Given the description of an element on the screen output the (x, y) to click on. 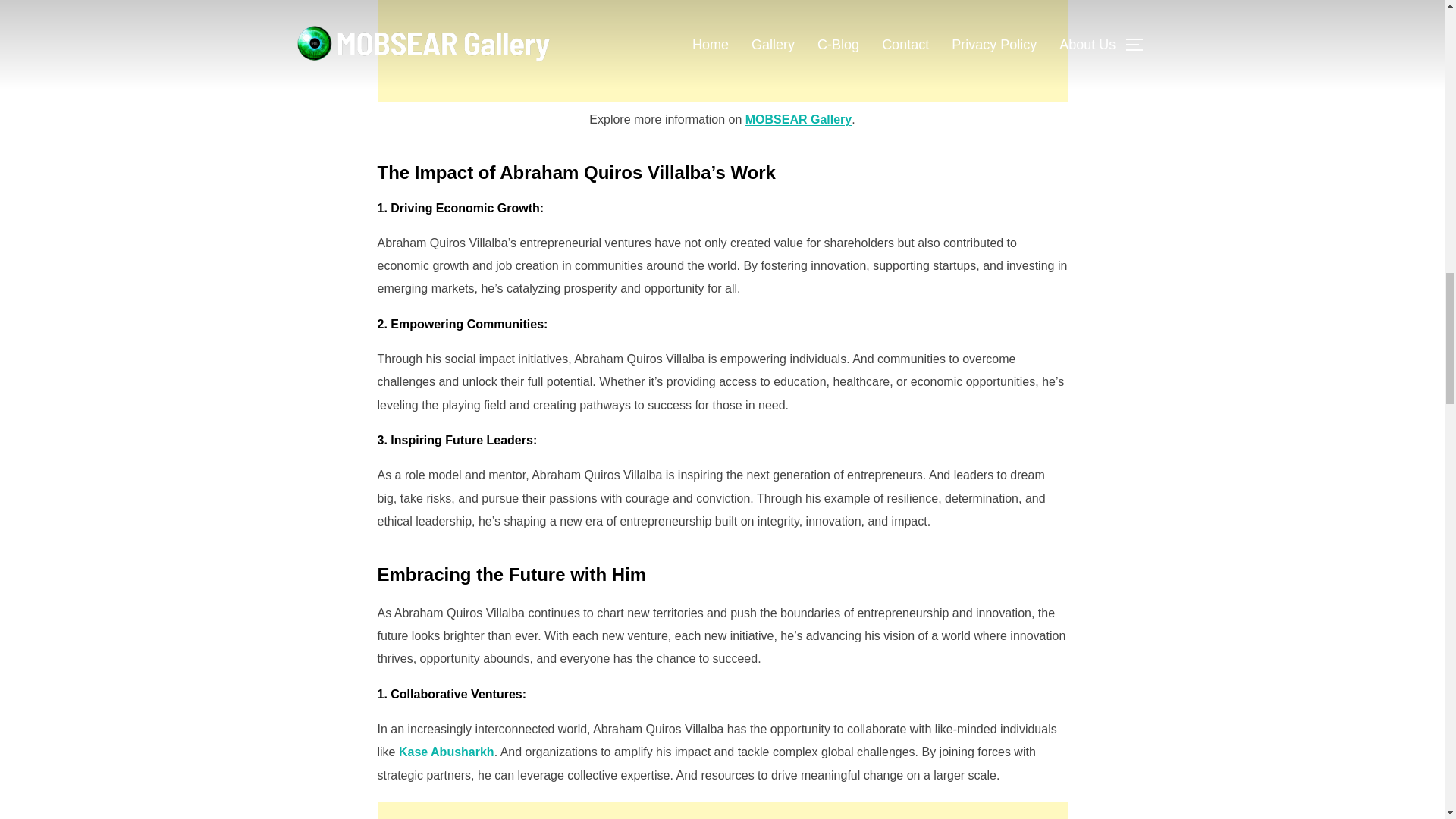
MOBSEAR Gallery (798, 119)
Kase Abusharkh (446, 751)
Advertisement (722, 51)
Advertisement (722, 810)
